Given the description of an element on the screen output the (x, y) to click on. 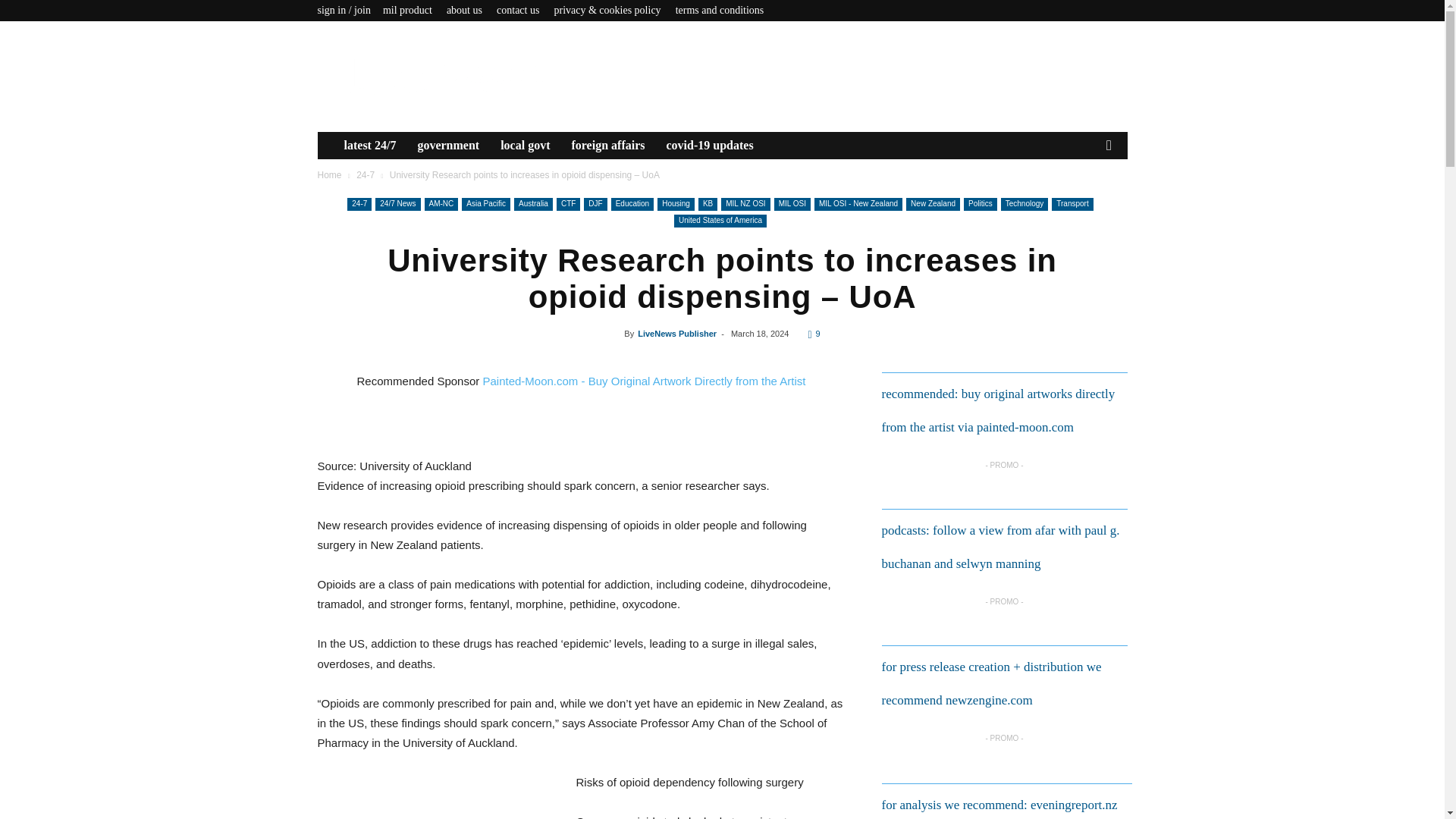
Housing (676, 204)
AM-NC (441, 204)
DJF (595, 204)
3rd party ad content (438, 799)
24-7 (365, 174)
government (447, 144)
about us (463, 9)
KB (707, 204)
contact us (517, 9)
covid-19 updates (708, 144)
Search (1085, 201)
Australia (533, 204)
local govt (524, 144)
View all posts in 24-7 (365, 174)
Education (632, 204)
